Given the description of an element on the screen output the (x, y) to click on. 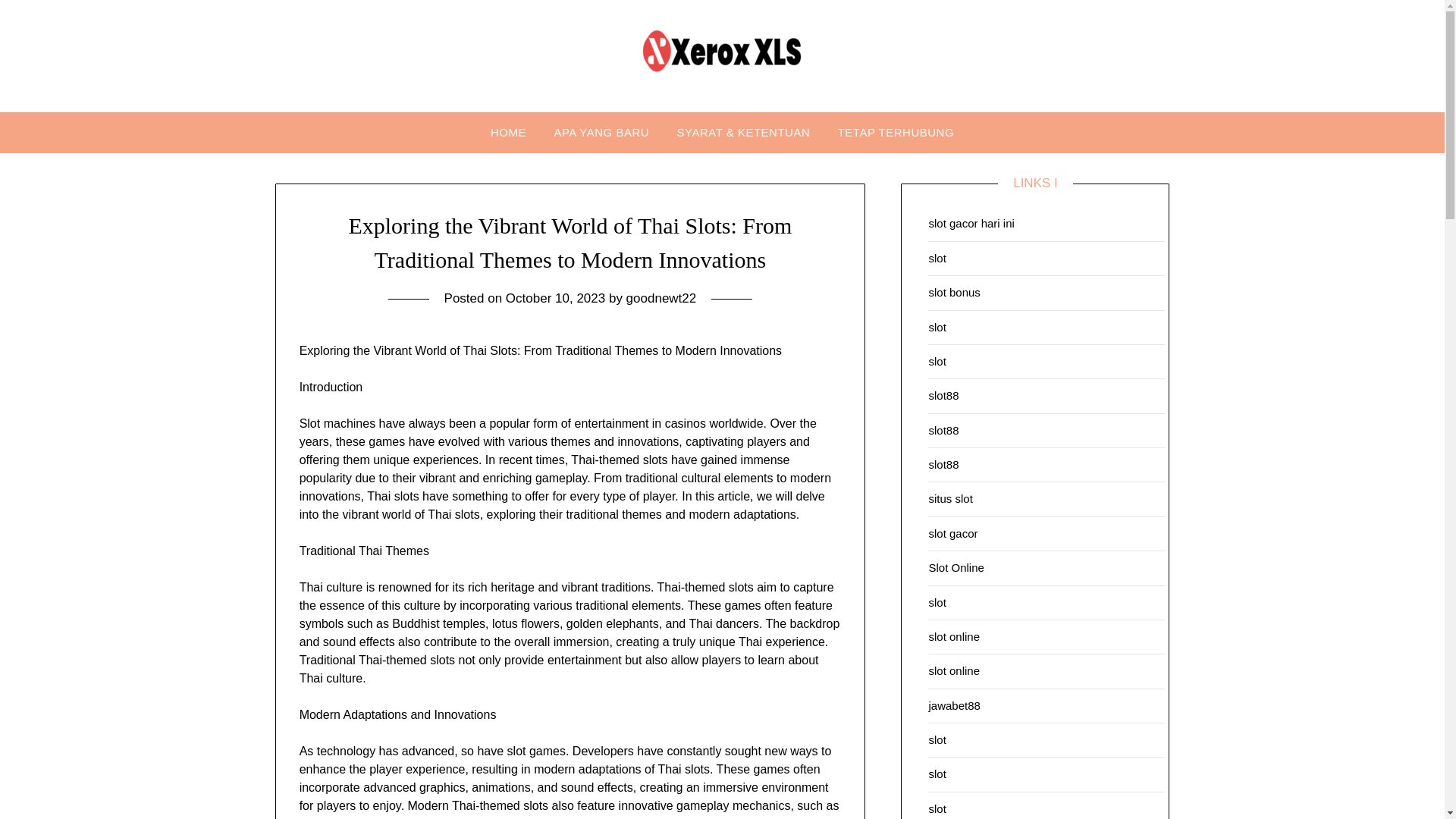
goodnewt22 (661, 298)
slot (936, 360)
slot (936, 739)
slot88 (943, 463)
jawabet88 (953, 705)
October 10, 2023 (555, 298)
HOME (508, 132)
slot (936, 602)
Slot Online (956, 567)
slot (936, 773)
slot gacor (952, 533)
APA YANG BARU (601, 132)
slot bonus (953, 291)
slot online (953, 670)
slot88 (943, 430)
